Given the description of an element on the screen output the (x, y) to click on. 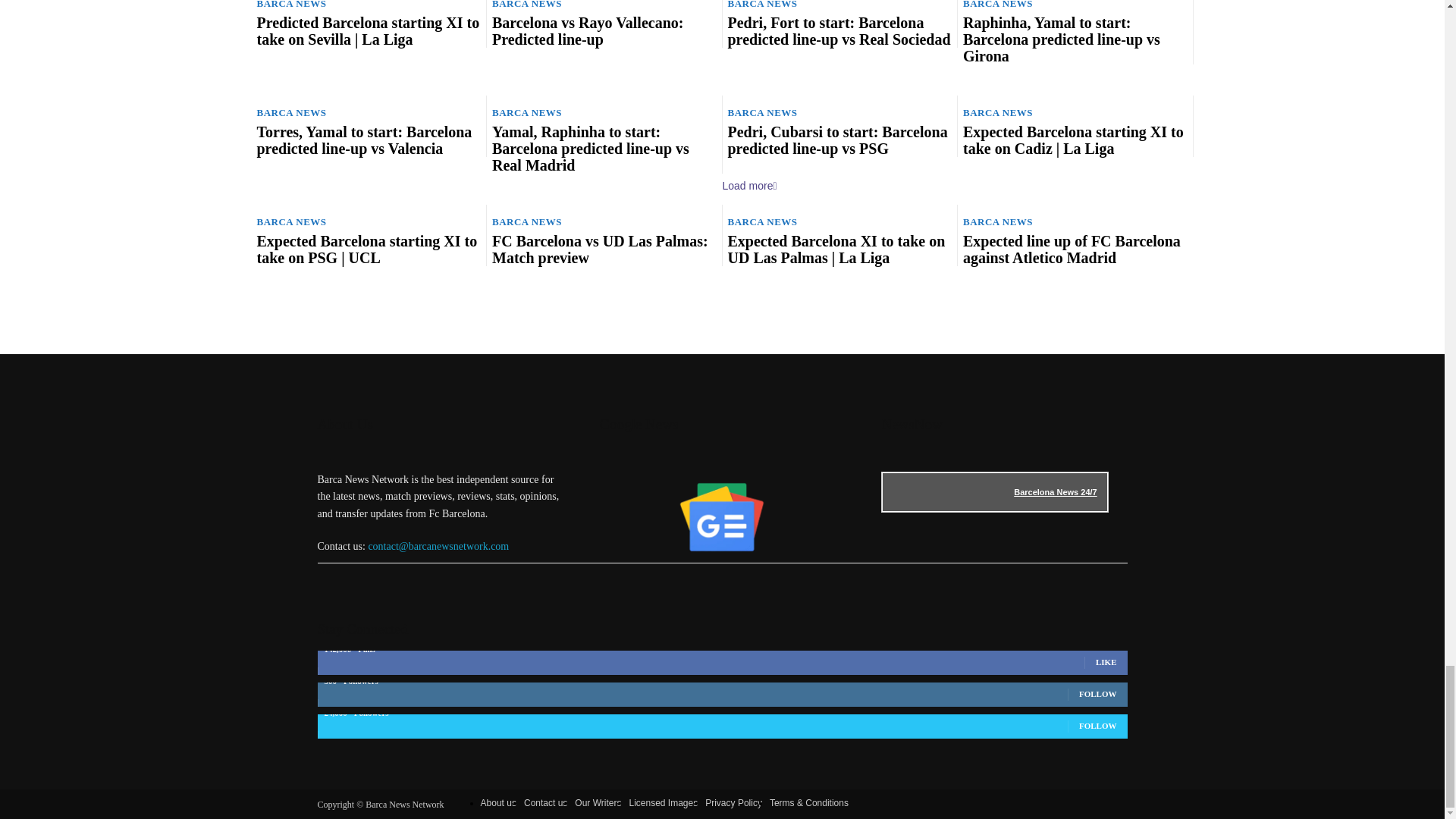
Barcelona vs Rayo Vallecano: Predicted line-up (587, 30)
